Given the description of an element on the screen output the (x, y) to click on. 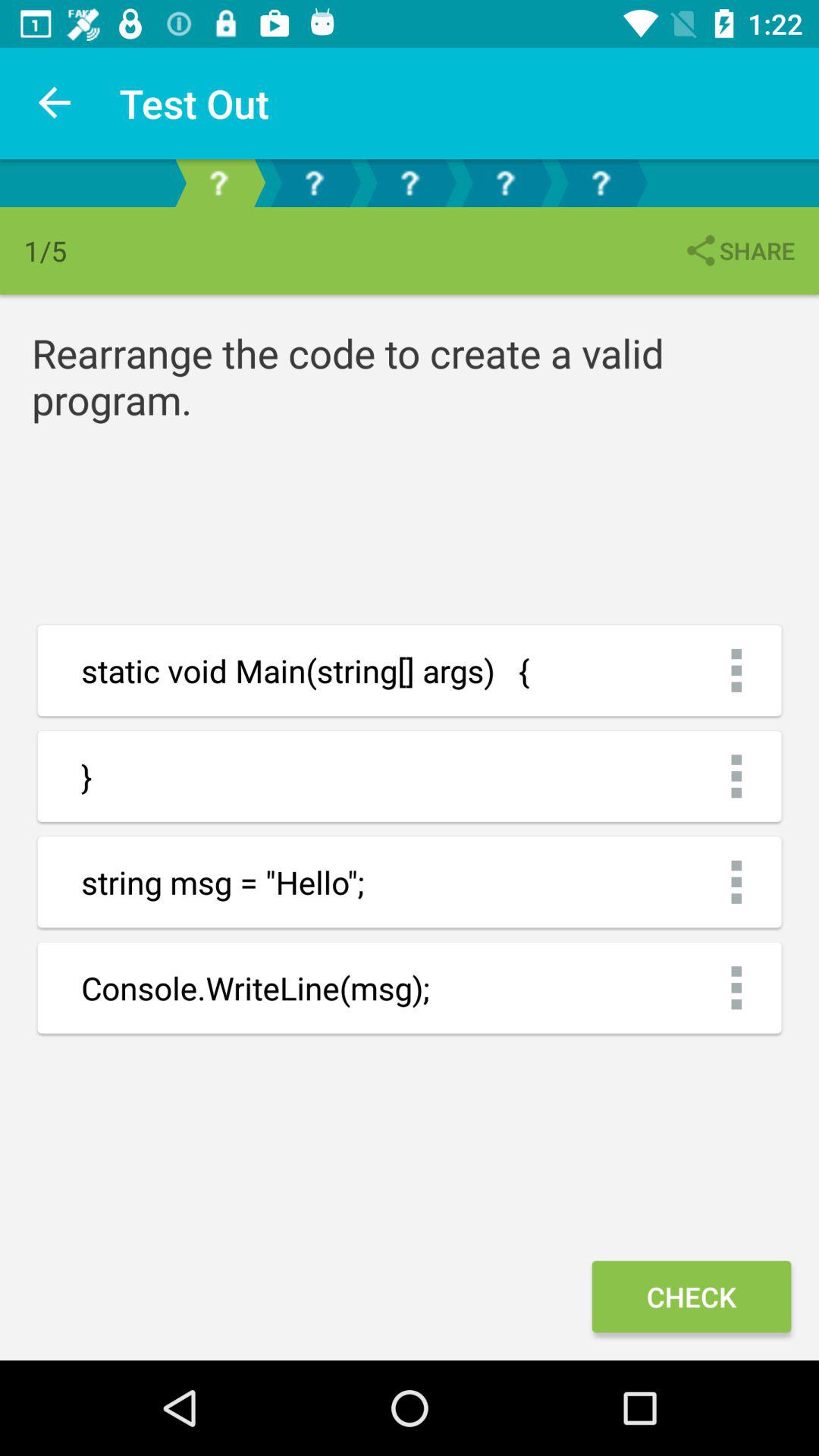
swipe until check item (691, 1296)
